Given the description of an element on the screen output the (x, y) to click on. 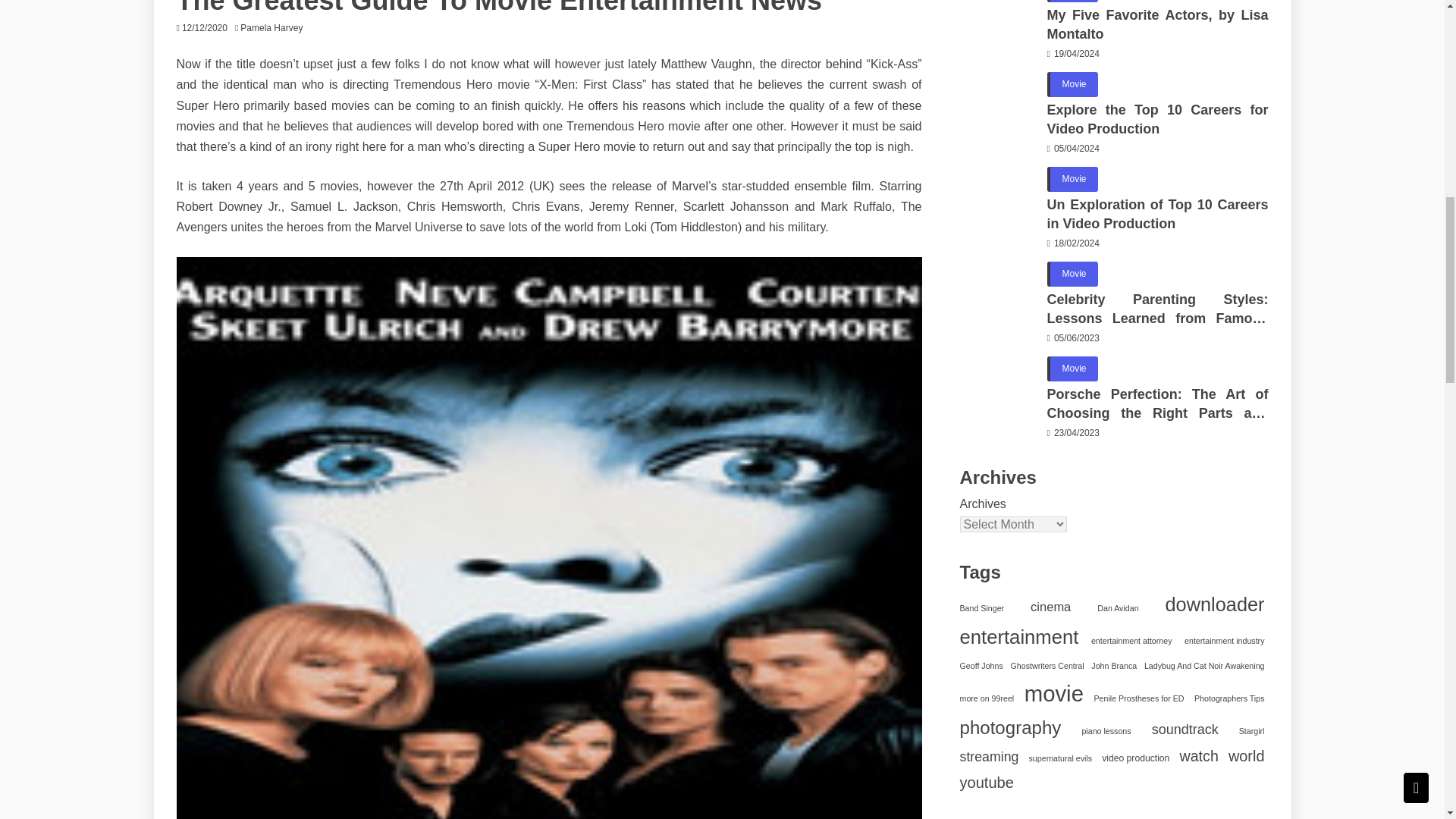
Un Exploration of Top 10 Careers in Video Production 13 (997, 204)
Explore the Top 10 Careers for Video Production 12 (997, 110)
Pamela Harvey (275, 27)
My Five Favorite Actors, by Lisa Montalto 11 (997, 26)
